Given the description of an element on the screen output the (x, y) to click on. 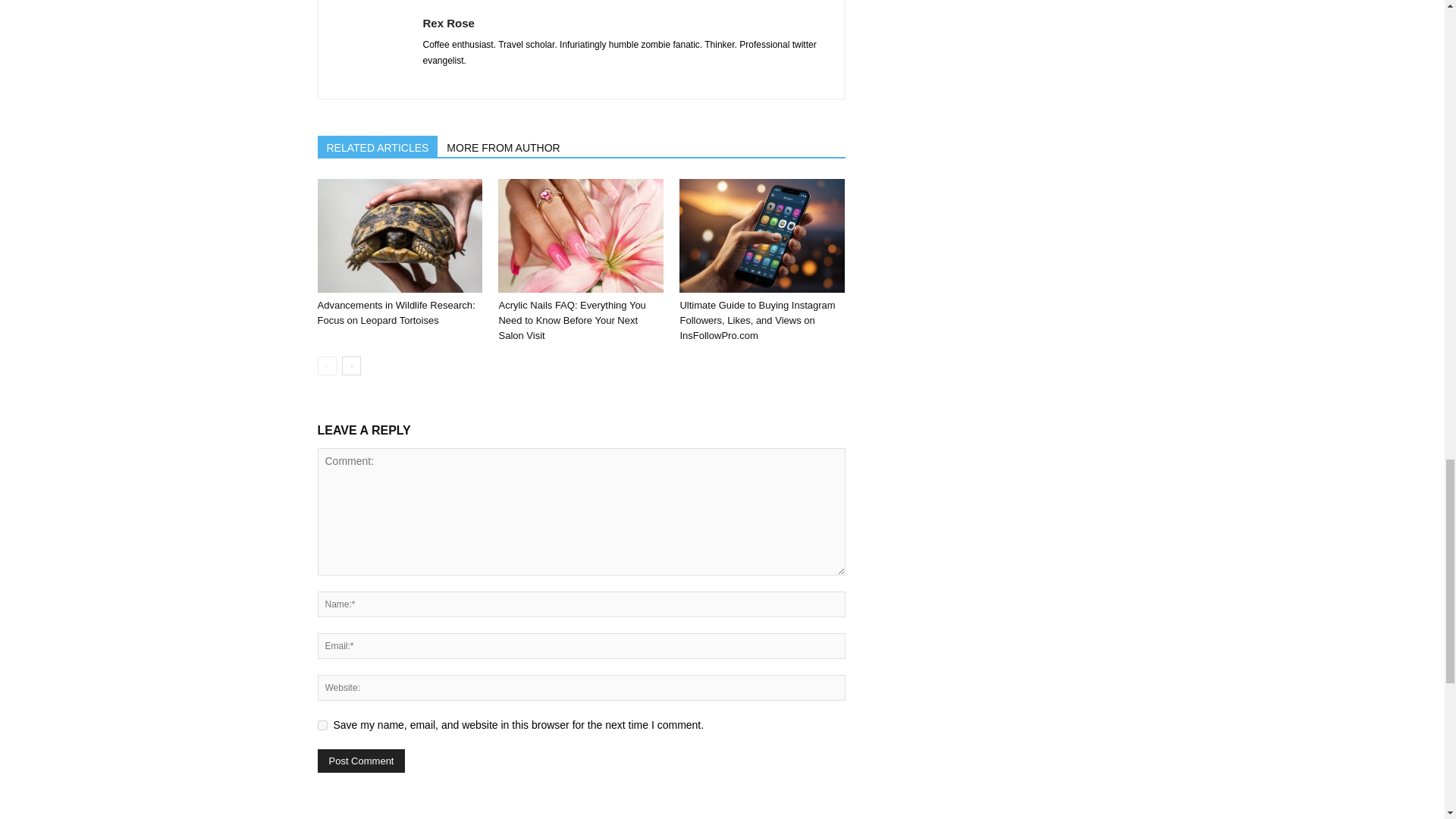
yes (321, 725)
Post Comment (360, 761)
